Given the description of an element on the screen output the (x, y) to click on. 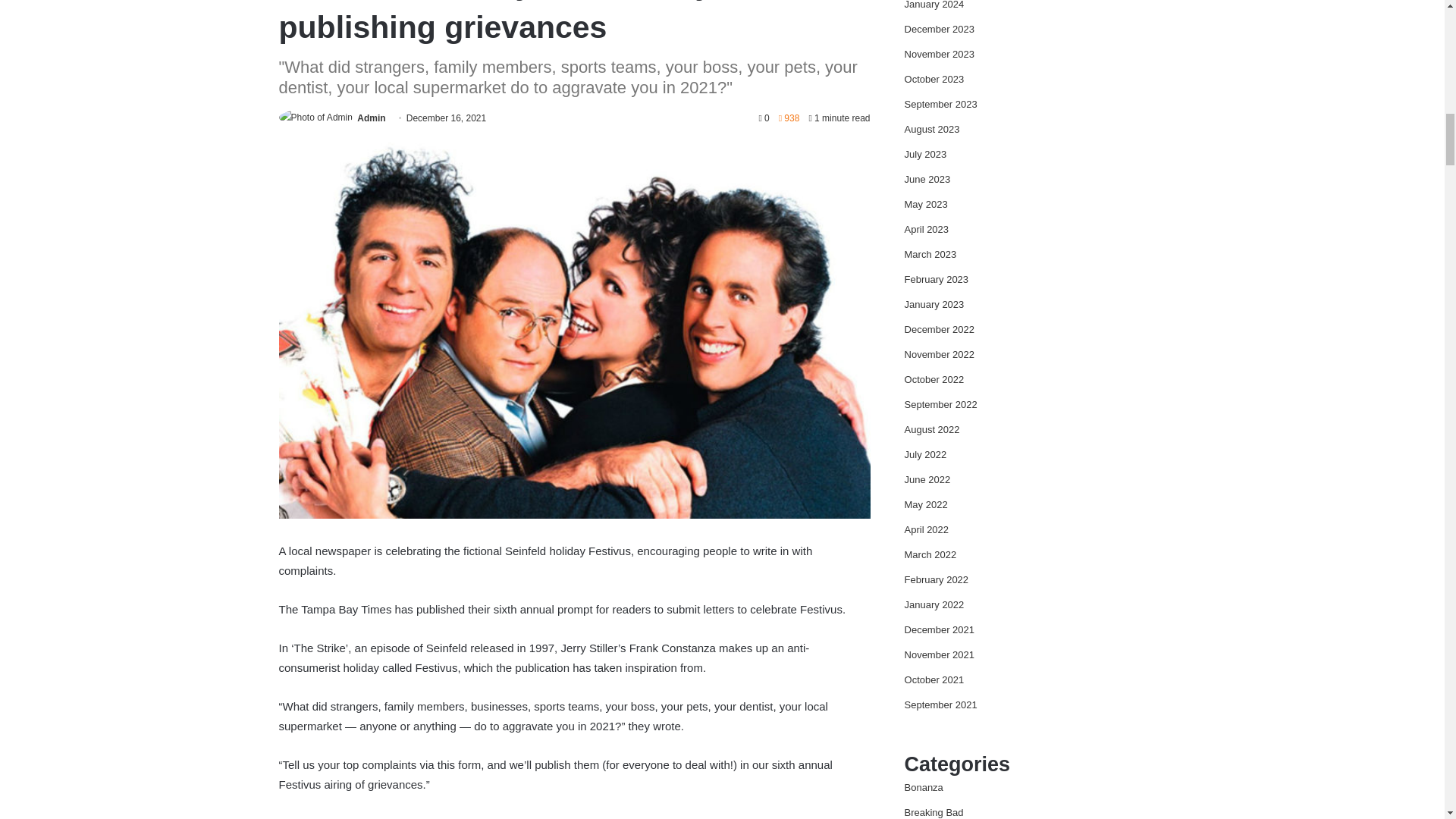
Admin (370, 118)
Admin (370, 118)
